Given the description of an element on the screen output the (x, y) to click on. 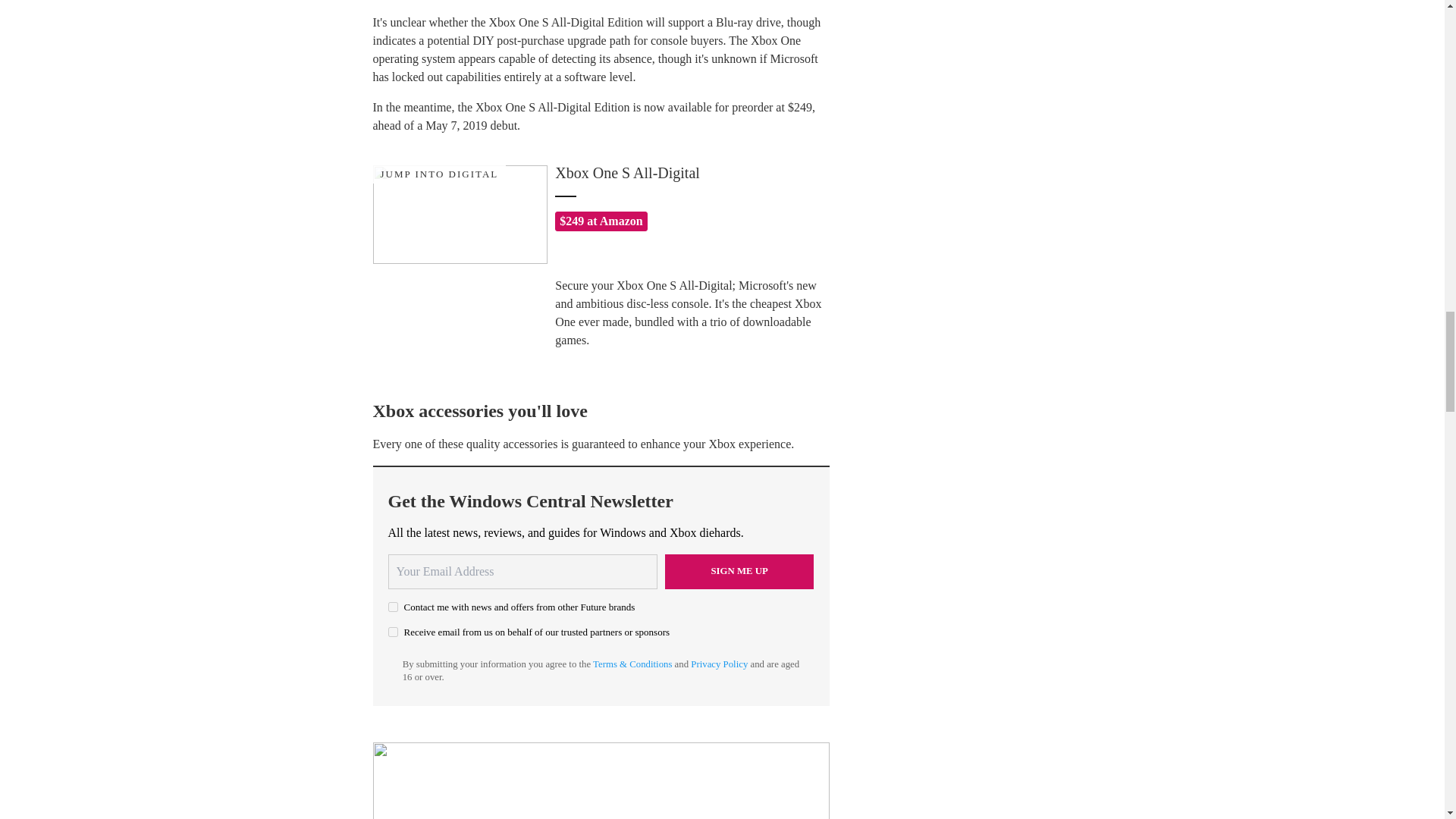
on (392, 606)
Sign me up (739, 571)
Privacy Policy (719, 664)
Sign me up (739, 571)
on (392, 632)
